Given the description of an element on the screen output the (x, y) to click on. 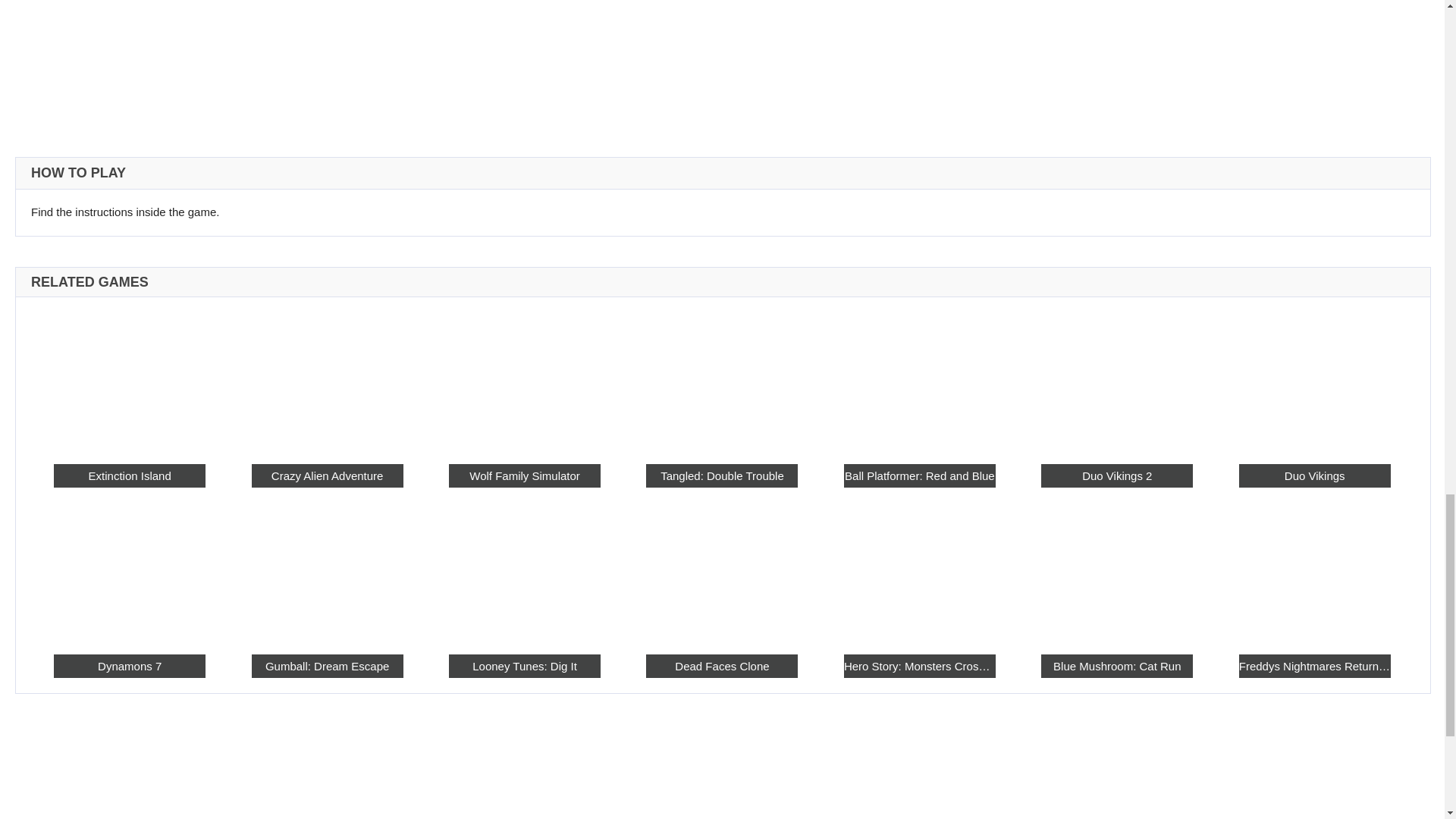
Ball Platformer: Red and Blue (853, 437)
Extinction Island (391, 358)
Duo Vikings 2 (963, 437)
Duo Vikings (1074, 437)
Crazy Alien Adventure (522, 437)
Tangled: Double Trouble (721, 358)
Wolf Family Simulator (633, 437)
Ball Platformer: Red and Blue (832, 358)
Duo Vikings 2 (943, 358)
Wolf Family Simulator (612, 358)
